Given the description of an element on the screen output the (x, y) to click on. 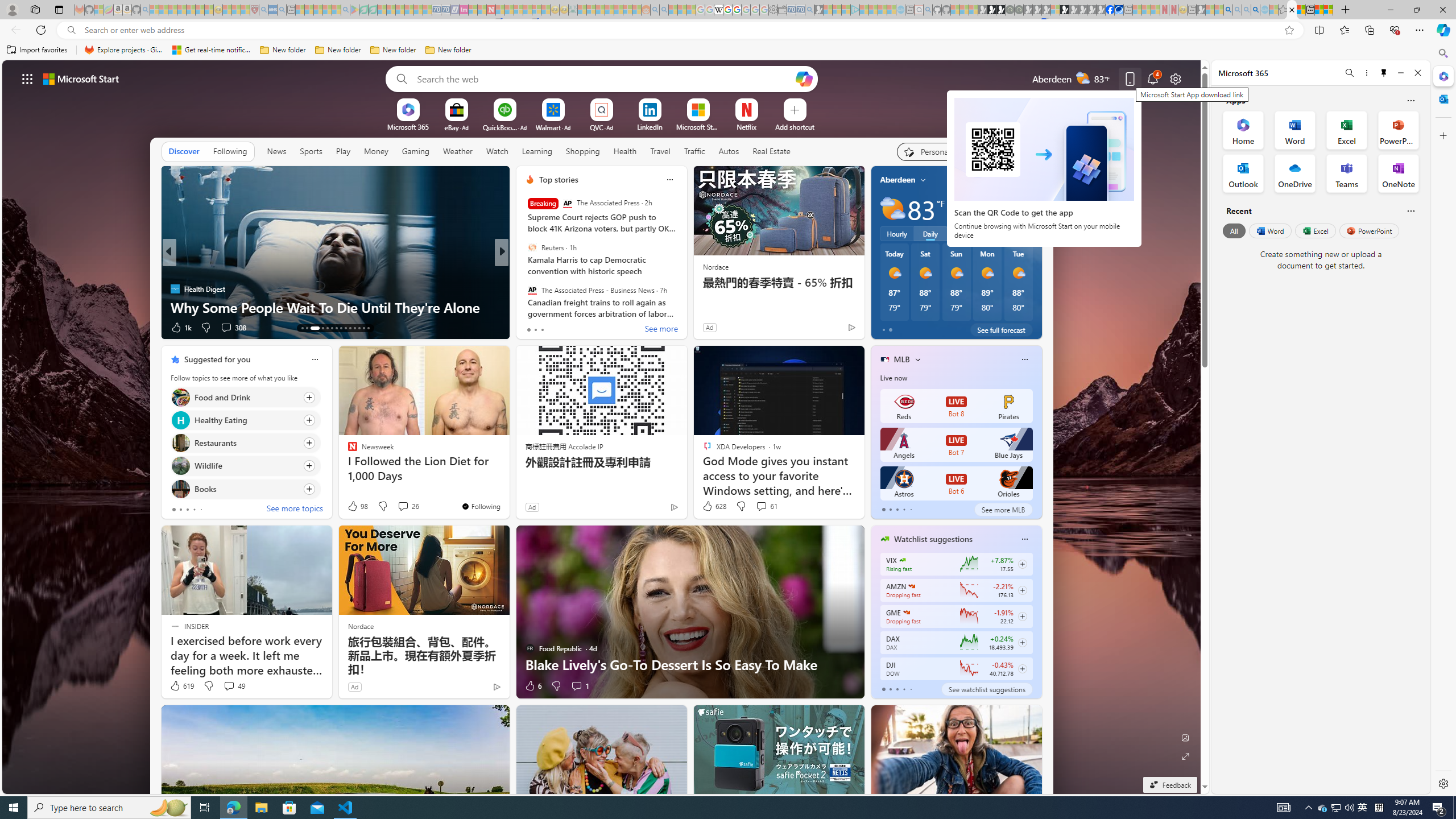
Click to follow topic Restaurants (245, 442)
364 Like (532, 327)
Nordace | Facebook (1109, 9)
View comments 61 Comment (766, 505)
Reds LIVE Bot 8 Pirates (955, 406)
View comments 2 Comment (576, 327)
